Given the description of an element on the screen output the (x, y) to click on. 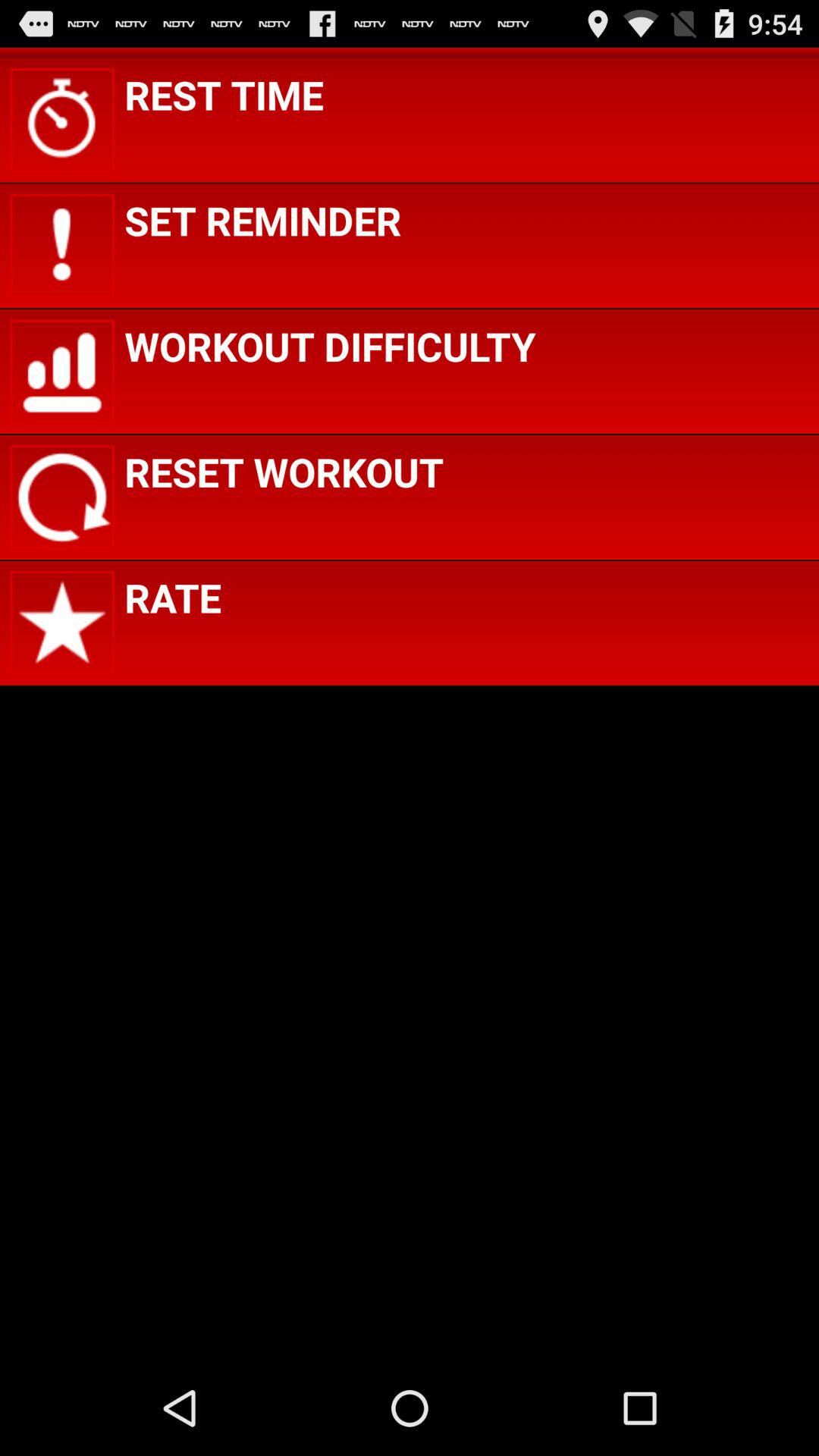
jump to the workout difficulty app (329, 345)
